Given the description of an element on the screen output the (x, y) to click on. 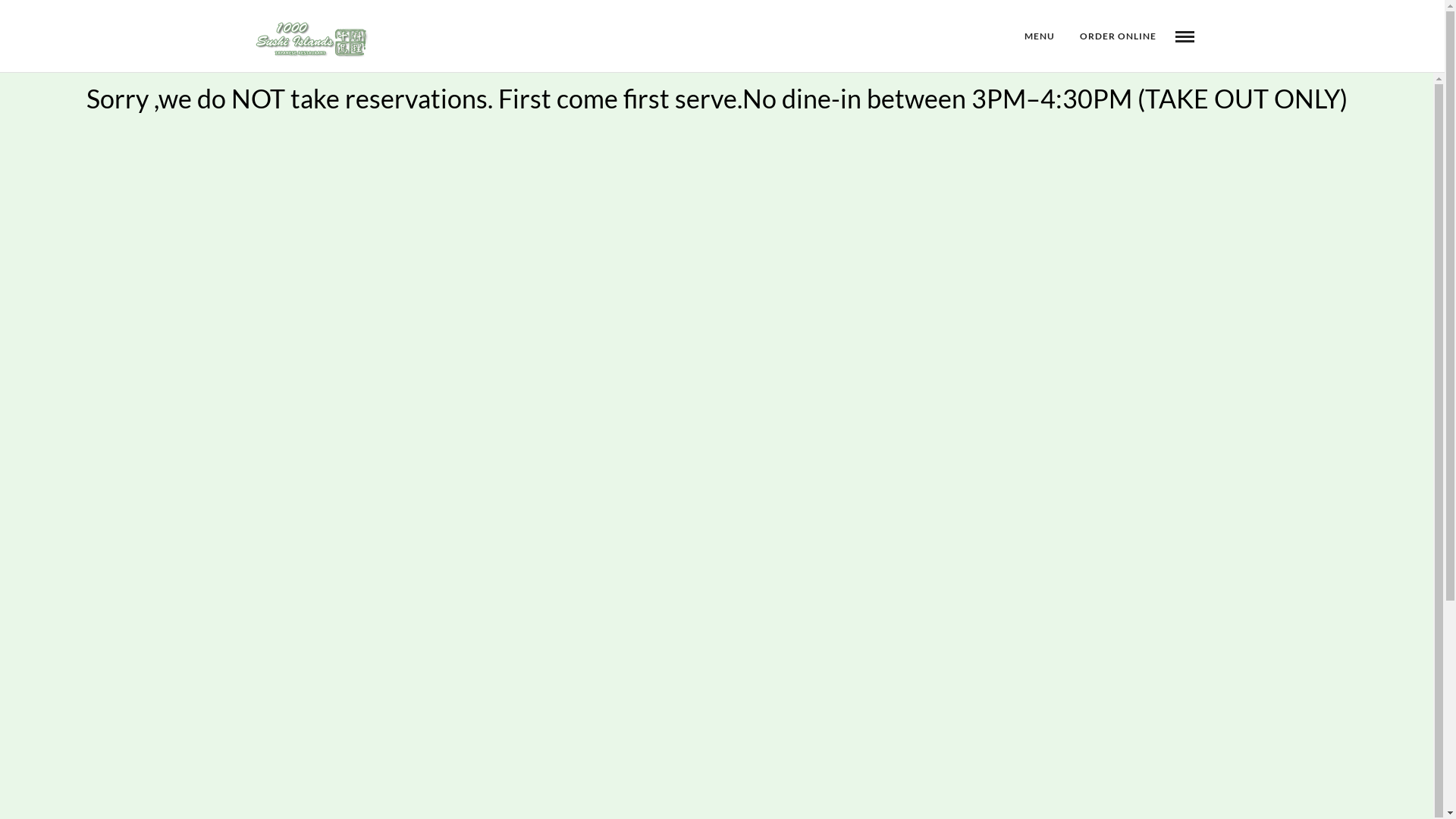
ORDER ONLINE Element type: text (1117, 36)
MENU Element type: text (1039, 36)
